Given the description of an element on the screen output the (x, y) to click on. 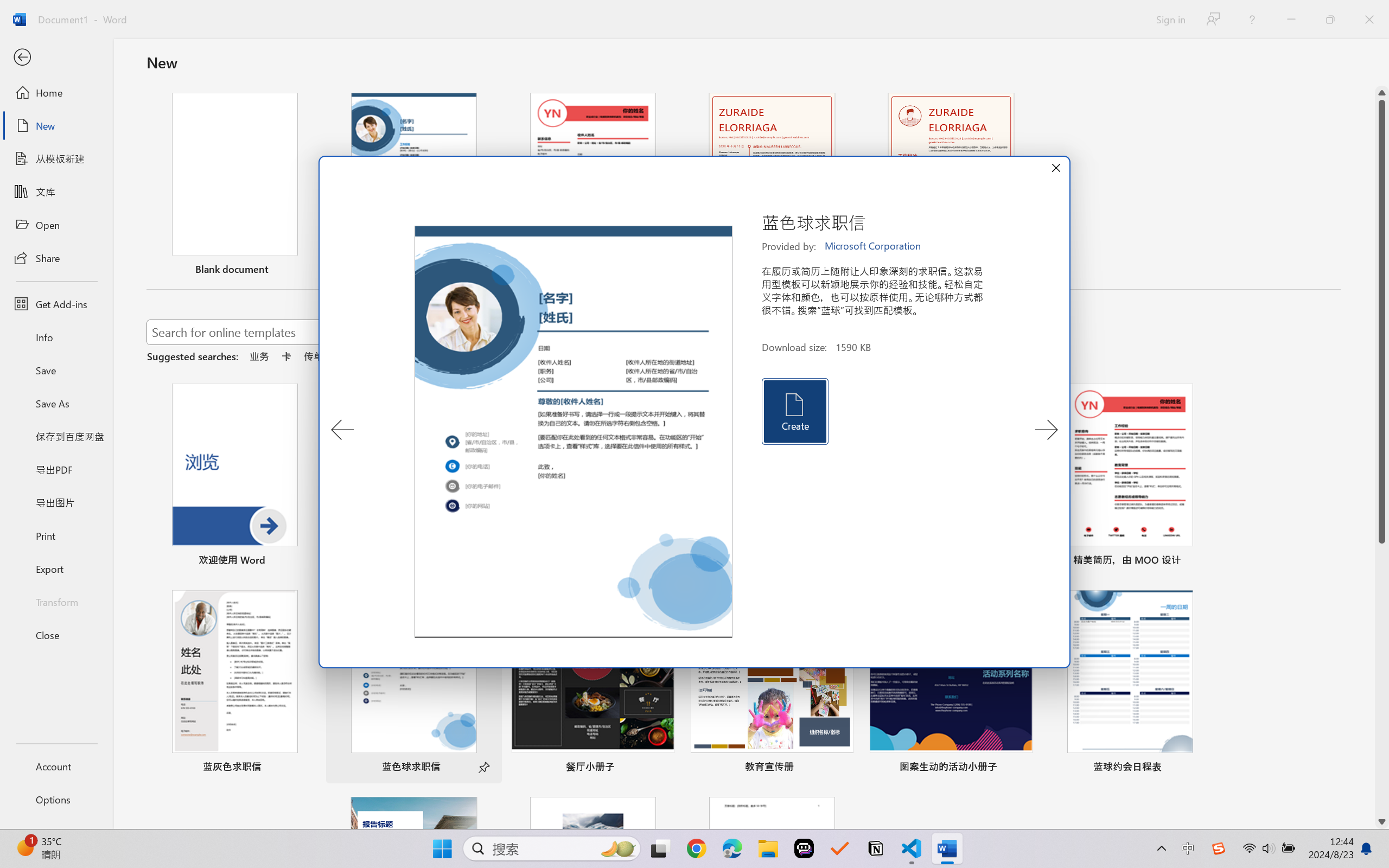
Next Template (1046, 430)
Account (56, 765)
Print (56, 535)
Microsoft Corporation (873, 246)
Line down (1382, 821)
